Given the description of an element on the screen output the (x, y) to click on. 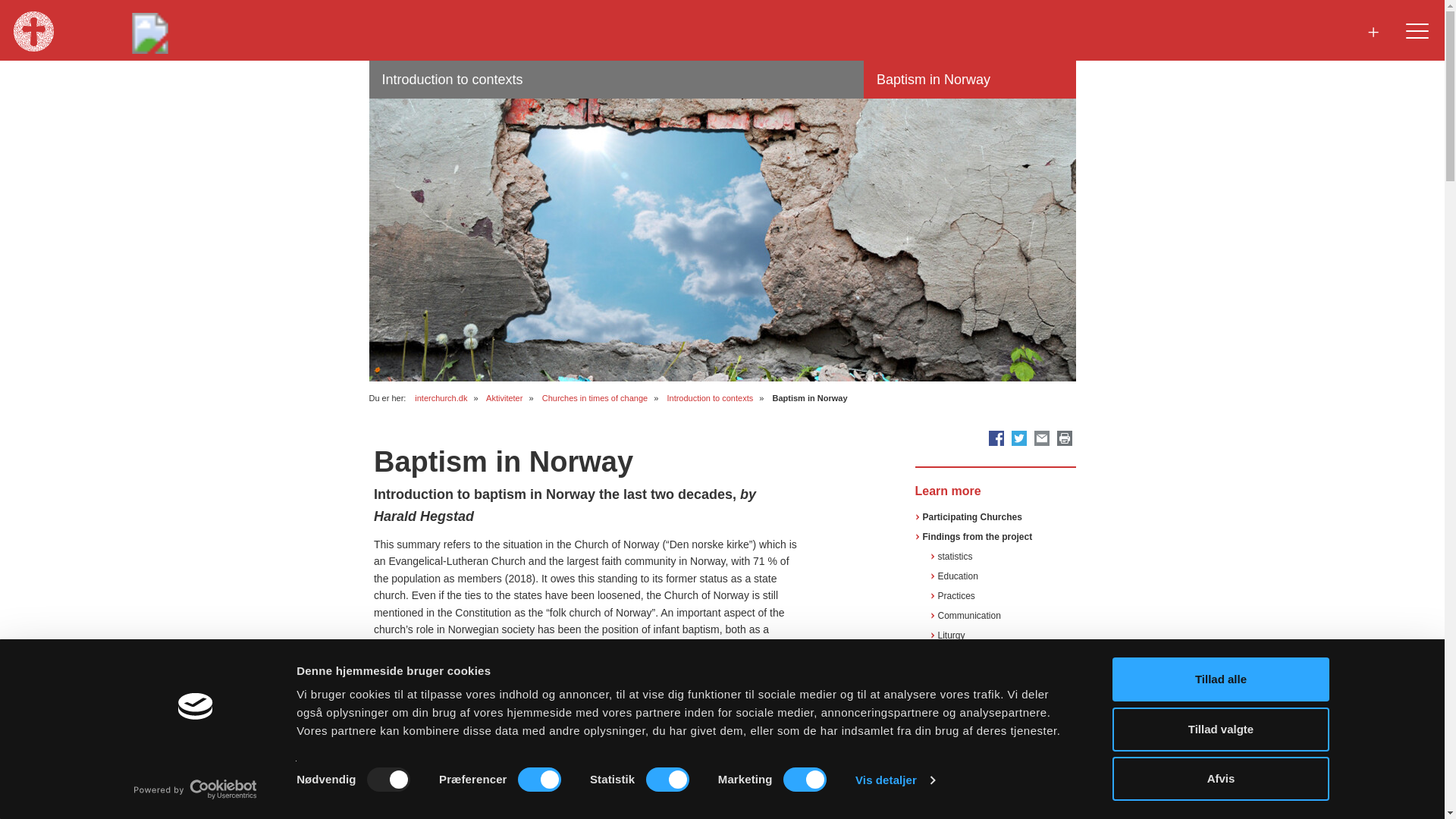
Tillad alle (1219, 679)
Tillad valgte (1219, 728)
Churches in times of change (594, 397)
Afvis (1219, 778)
Introduction to contexts (709, 397)
Aktiviteter (504, 397)
Vis detaljer (895, 780)
interchurch.dk (440, 397)
